Given the description of an element on the screen output the (x, y) to click on. 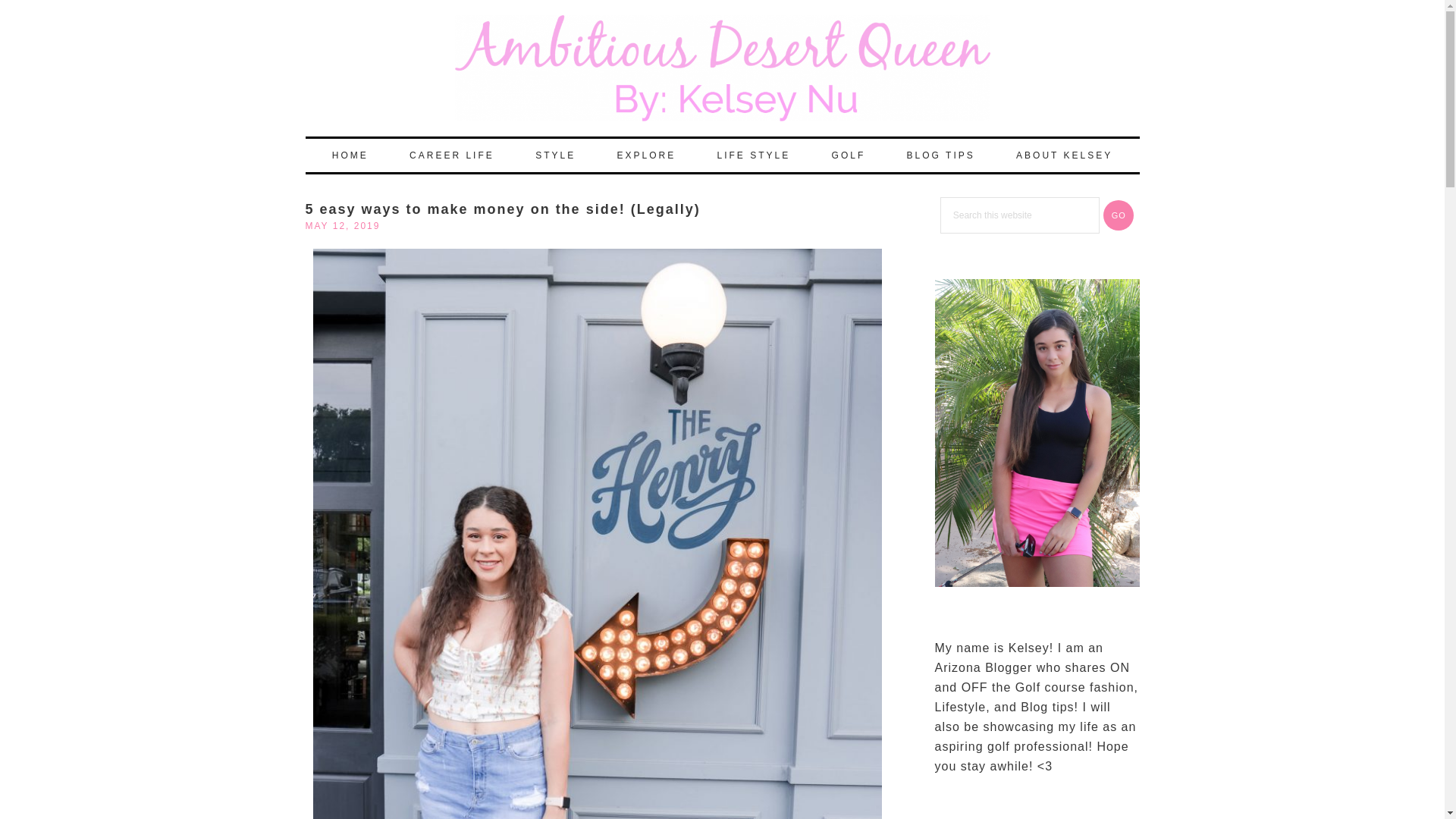
GO (1118, 214)
GOLF (848, 155)
ABOUT KELSEY (1063, 155)
EXPLORE (645, 155)
BLOG TIPS (940, 155)
CAREER LIFE (451, 155)
AMBITIOUS DESERT QUEEN (721, 68)
GO (1118, 214)
LIFE STYLE (753, 155)
STYLE (555, 155)
HOME (350, 155)
